Given the description of an element on the screen output the (x, y) to click on. 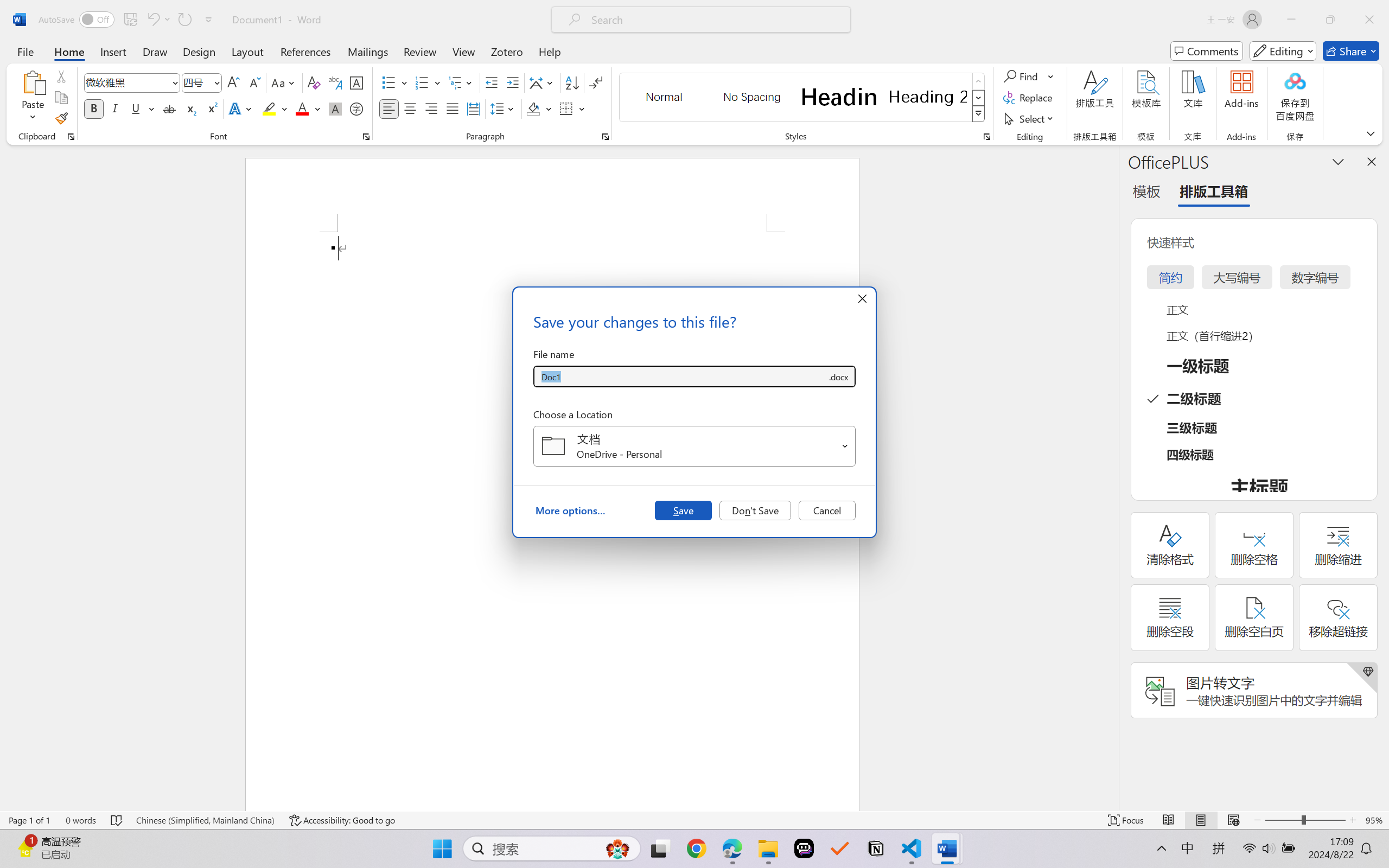
Save as type (837, 376)
Language Chinese (Simplified, Mainland China) (205, 819)
